Given the description of an element on the screen output the (x, y) to click on. 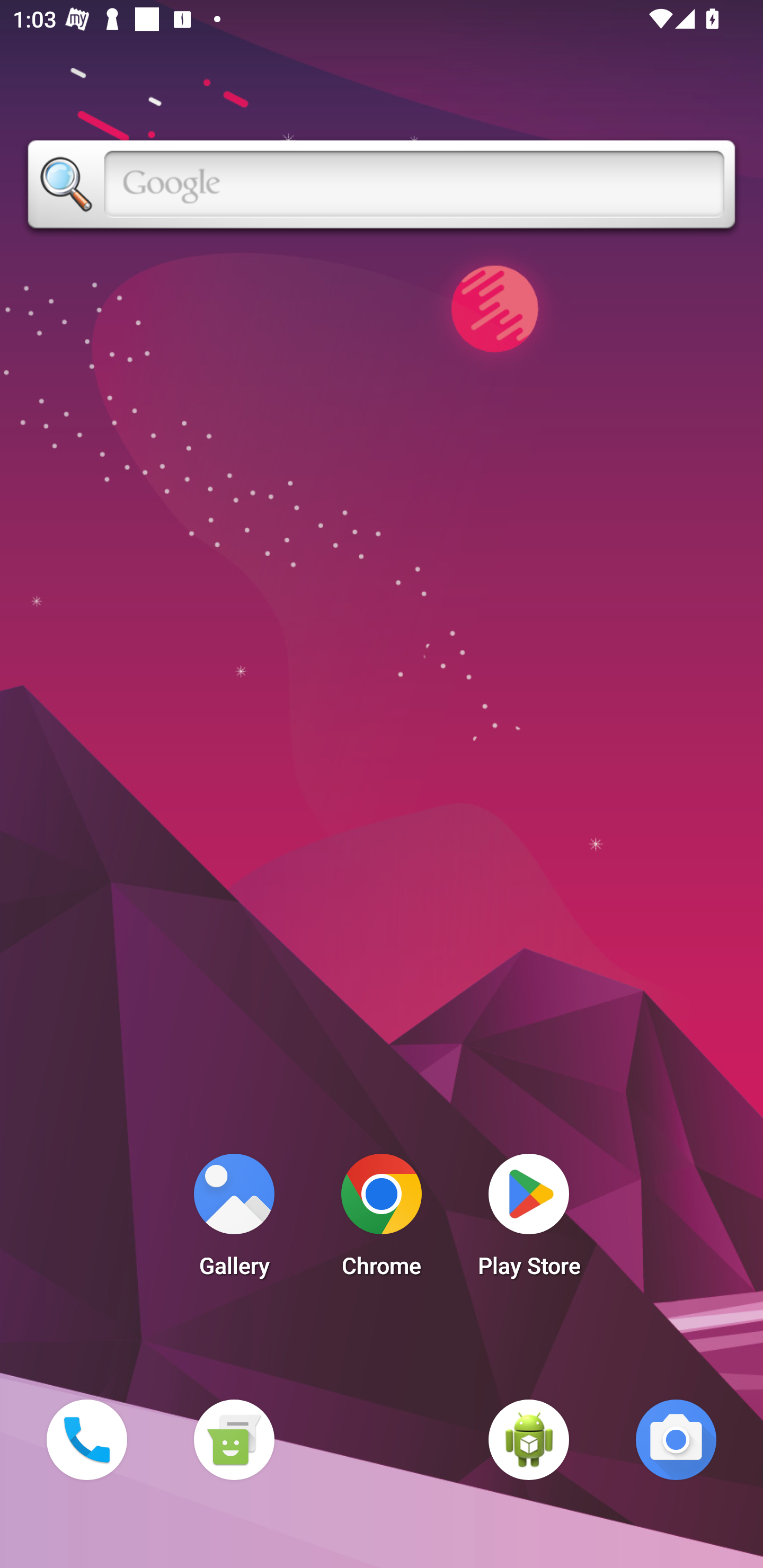
Gallery (233, 1220)
Chrome (381, 1220)
Play Store (528, 1220)
Phone (86, 1439)
Messaging (233, 1439)
WebView Browser Tester (528, 1439)
Camera (676, 1439)
